Given the description of an element on the screen output the (x, y) to click on. 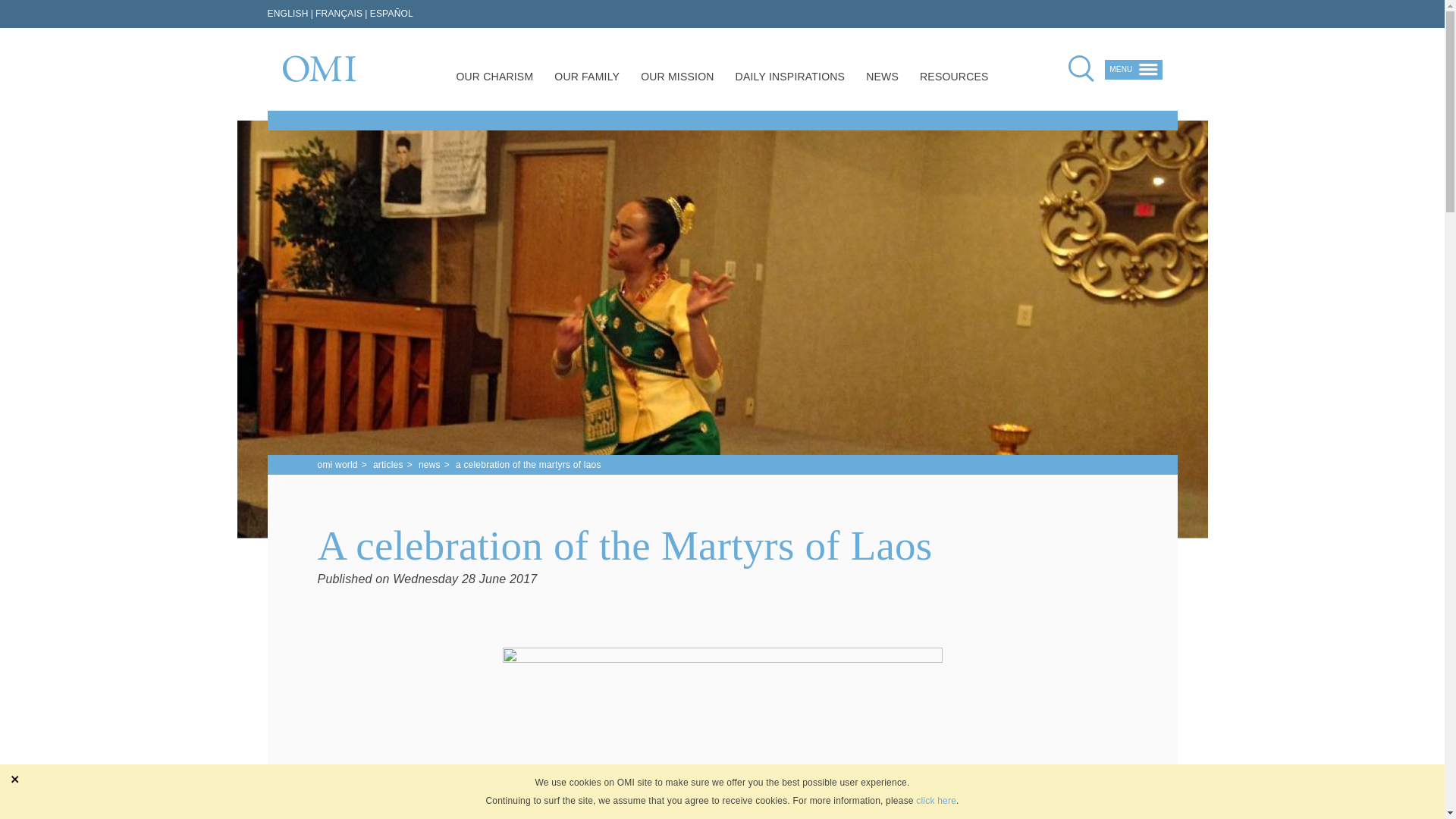
Go to the News category archives. (430, 465)
OUR CHARISM (494, 78)
OMI (318, 68)
Go to OMI World. (336, 465)
Go to Articles. (387, 465)
click here (935, 800)
